Given the description of an element on the screen output the (x, y) to click on. 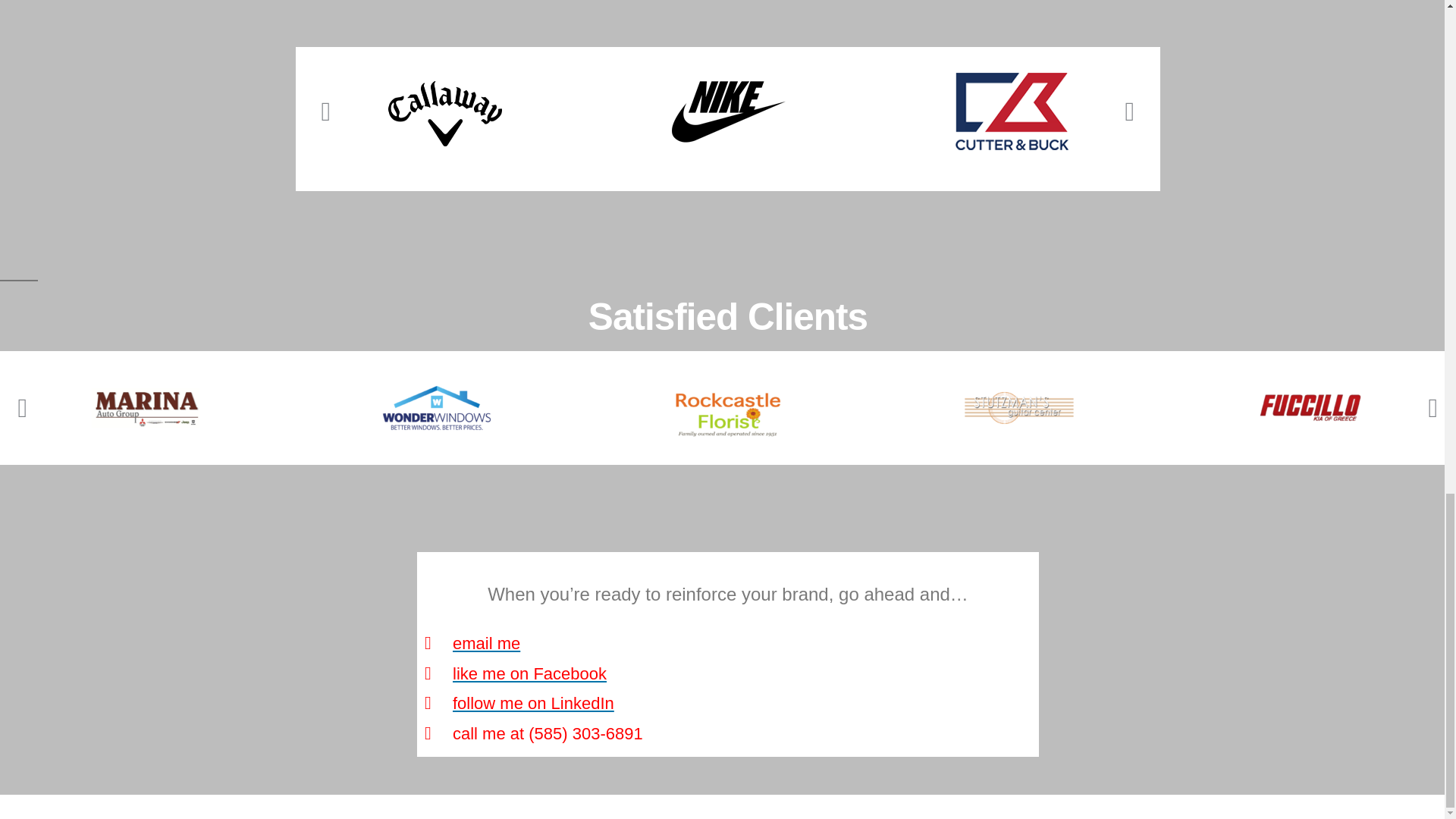
like me on Facebook (727, 674)
email me (727, 643)
follow me on LinkedIn (727, 703)
